Given the description of an element on the screen output the (x, y) to click on. 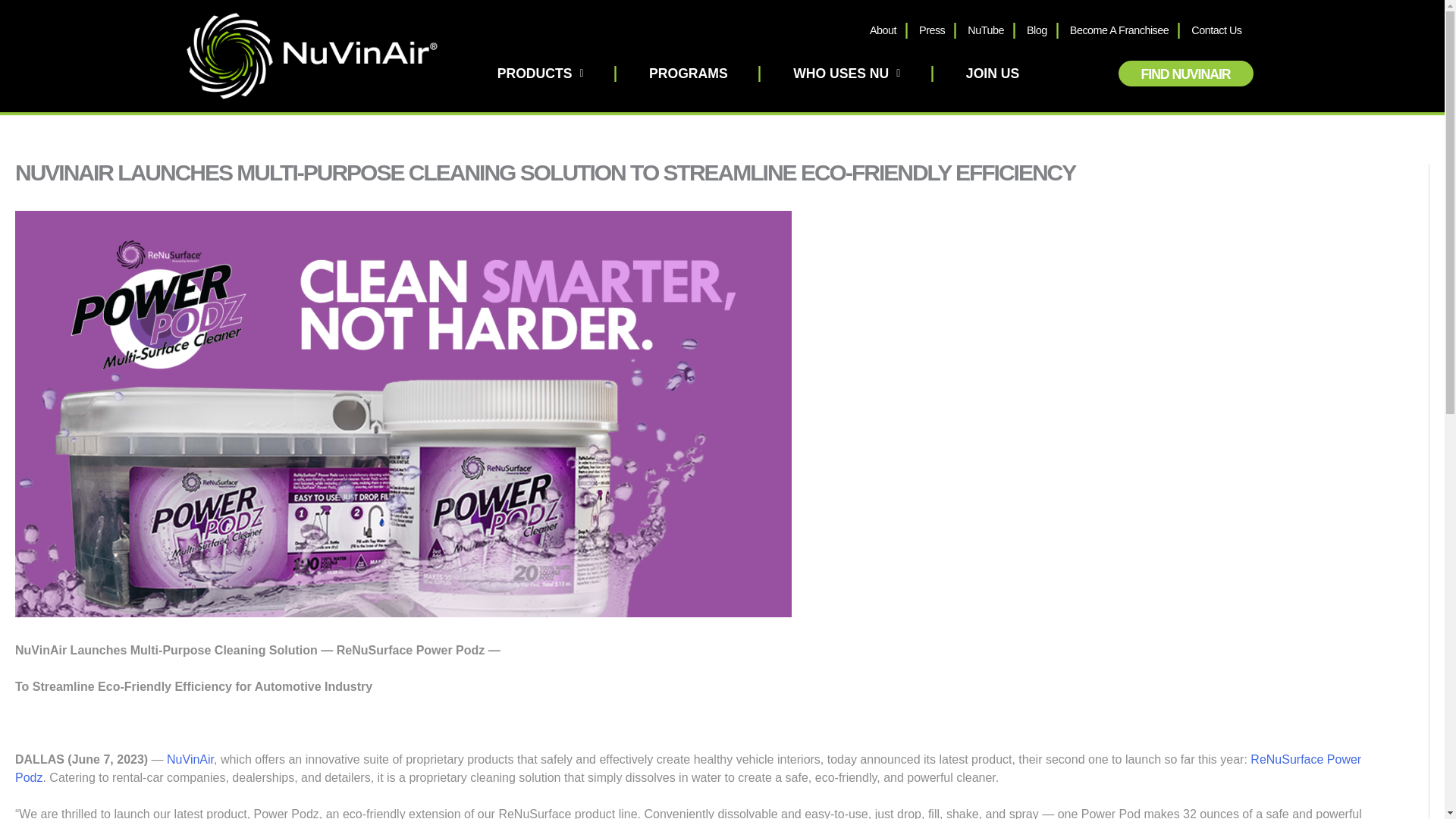
WHO USES NU (846, 73)
About (883, 30)
FIND NUVINAIR (1185, 73)
Press (931, 30)
Contact Us (1215, 30)
Become A Franchisee (1119, 30)
PRODUCTS (539, 73)
NuTube (985, 30)
PROGRAMS (687, 73)
Blog (1036, 30)
JOIN US (992, 73)
